Given the description of an element on the screen output the (x, y) to click on. 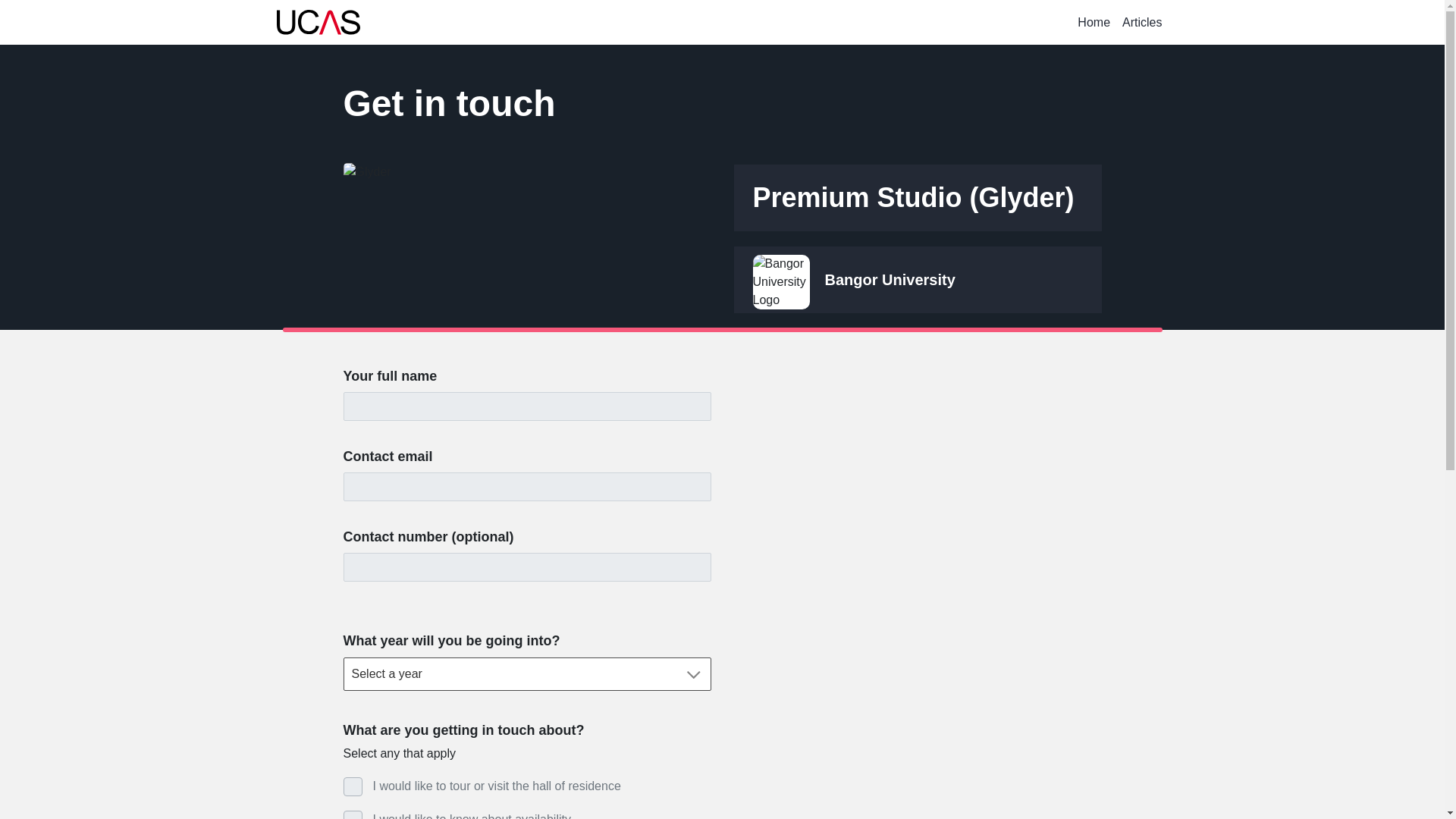
Articles (1141, 22)
Home (1093, 22)
